Given the description of an element on the screen output the (x, y) to click on. 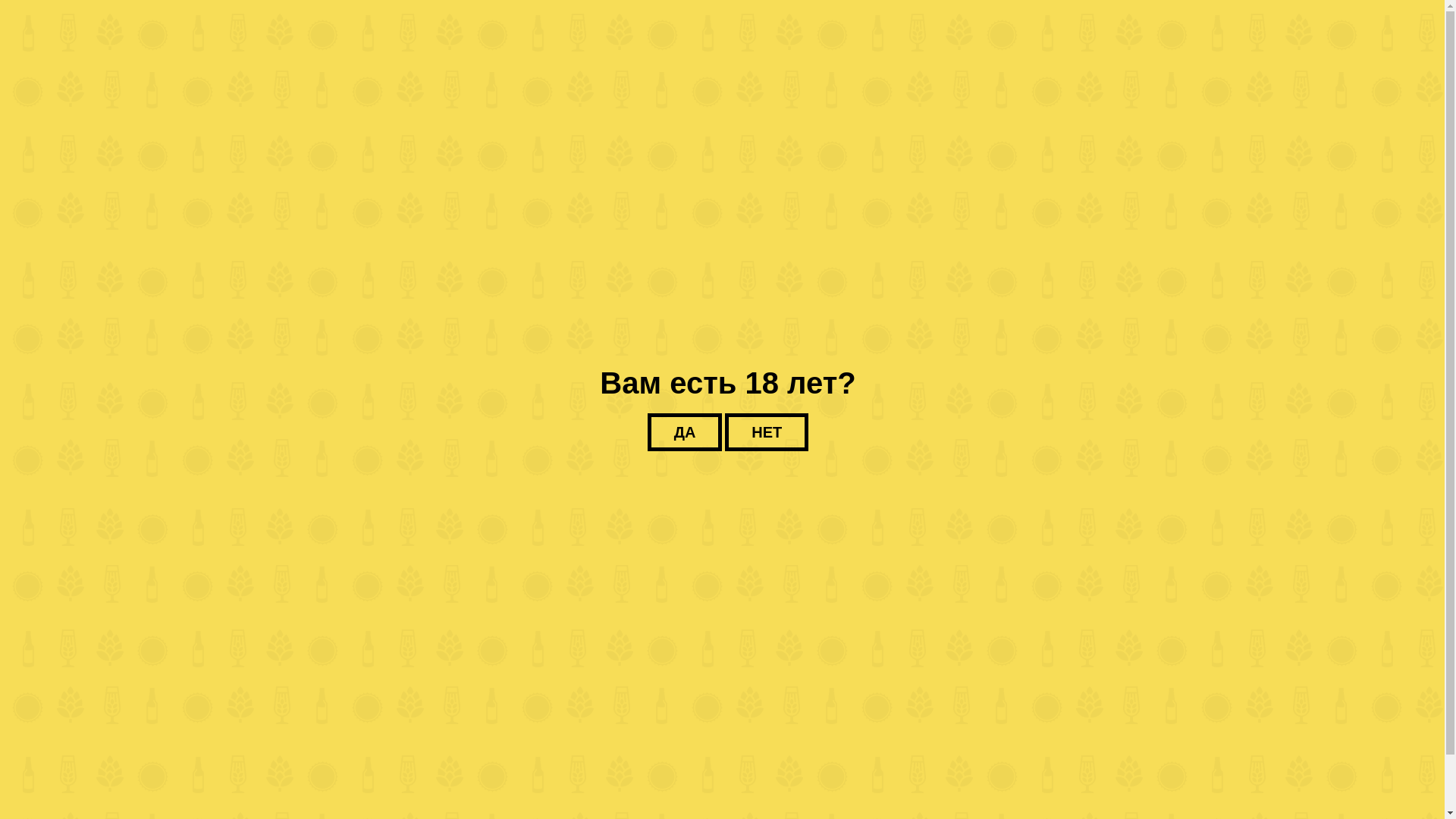
Untappd Element type: text (494, 450)
